Given the description of an element on the screen output the (x, y) to click on. 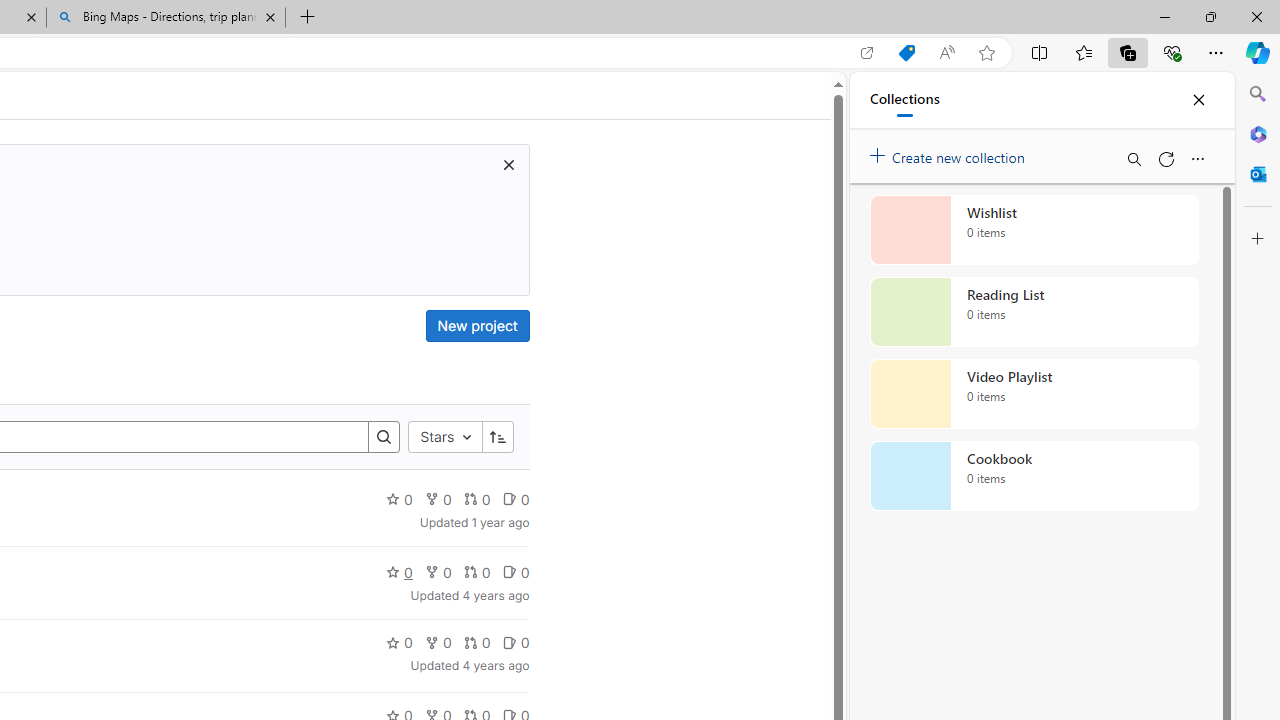
Open in app (867, 53)
Wishlist collection, 0 items (1034, 229)
New project (476, 326)
Class: s14 gl-mr-2 (509, 642)
Customize (1258, 239)
